Given the description of an element on the screen output the (x, y) to click on. 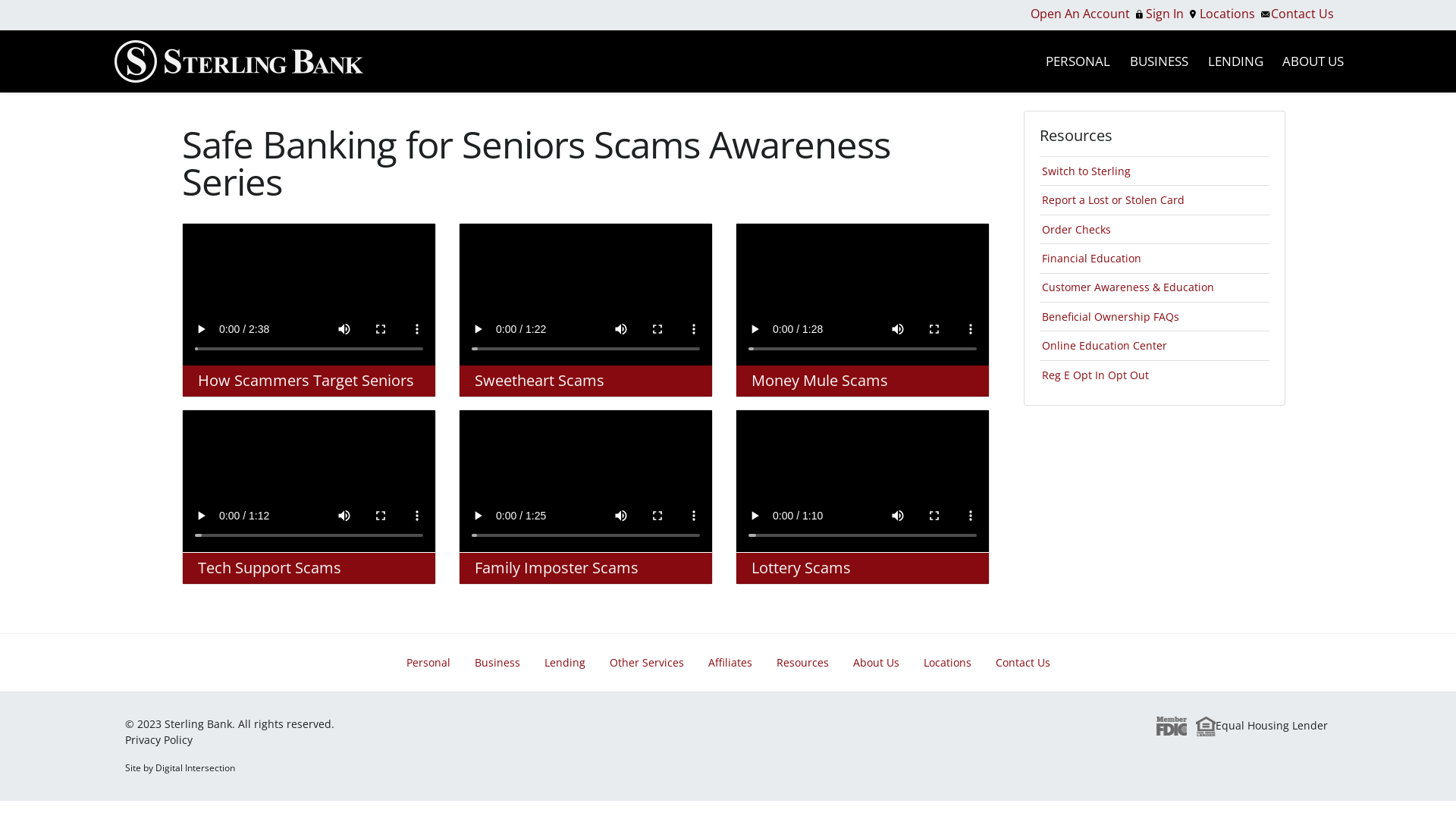
BUSINESS Element type: text (1159, 61)
Privacy Policy Element type: text (158, 739)
Report a Lost or Stolen Card Element type: text (1112, 199)
Business Element type: text (497, 663)
Lending Element type: text (564, 663)
Beneficial Ownership FAQs Element type: text (1110, 316)
PERSONAL Element type: text (1078, 61)
Digital Intersection Element type: text (195, 767)
About Us Element type: text (875, 663)
Contact Us Element type: text (1021, 663)
Customer Awareness & Education Element type: text (1127, 286)
Affiliates Element type: text (730, 663)
Equal Housing Lender Element type: text (1261, 725)
Locations Element type: text (947, 663)
Home Element type: text (238, 61)
Skip to content Element type: text (0, 92)
Personal Element type: text (428, 663)
Open An Account Element type: text (1079, 14)
Order Checks Element type: text (1075, 229)
Reg E Opt In Opt Out Element type: text (1094, 374)
Member FDIC Element type: text (1171, 725)
Sign In Element type: text (1164, 14)
ABOUT US Element type: text (1312, 61)
Resources Element type: text (802, 663)
Financial Education Element type: text (1091, 258)
Online Education Center Element type: text (1104, 345)
Switch to Sterling Element type: text (1085, 170)
Other Services Element type: text (646, 663)
Locations Element type: text (1227, 14)
Contact Us Element type: text (1301, 14)
LENDING Element type: text (1235, 61)
